Given the description of an element on the screen output the (x, y) to click on. 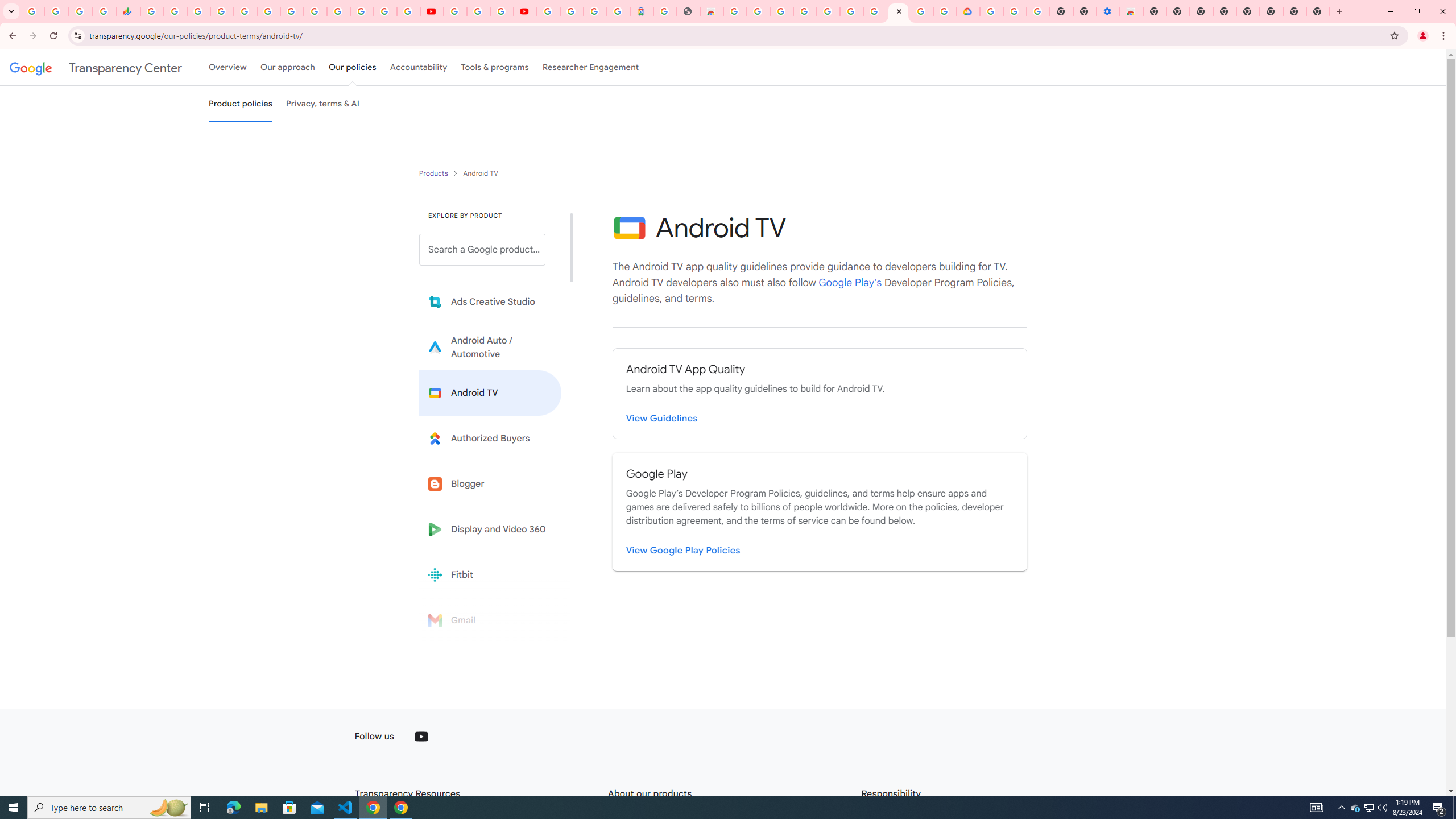
Sign in - Google Accounts (338, 11)
New Tab (1318, 11)
Sign in - Google Accounts (384, 11)
Learn more about Android TV (490, 393)
Learn more about Android TV (490, 393)
Learn more about Android Auto (490, 347)
View Google Play Policies (683, 550)
